Given the description of an element on the screen output the (x, y) to click on. 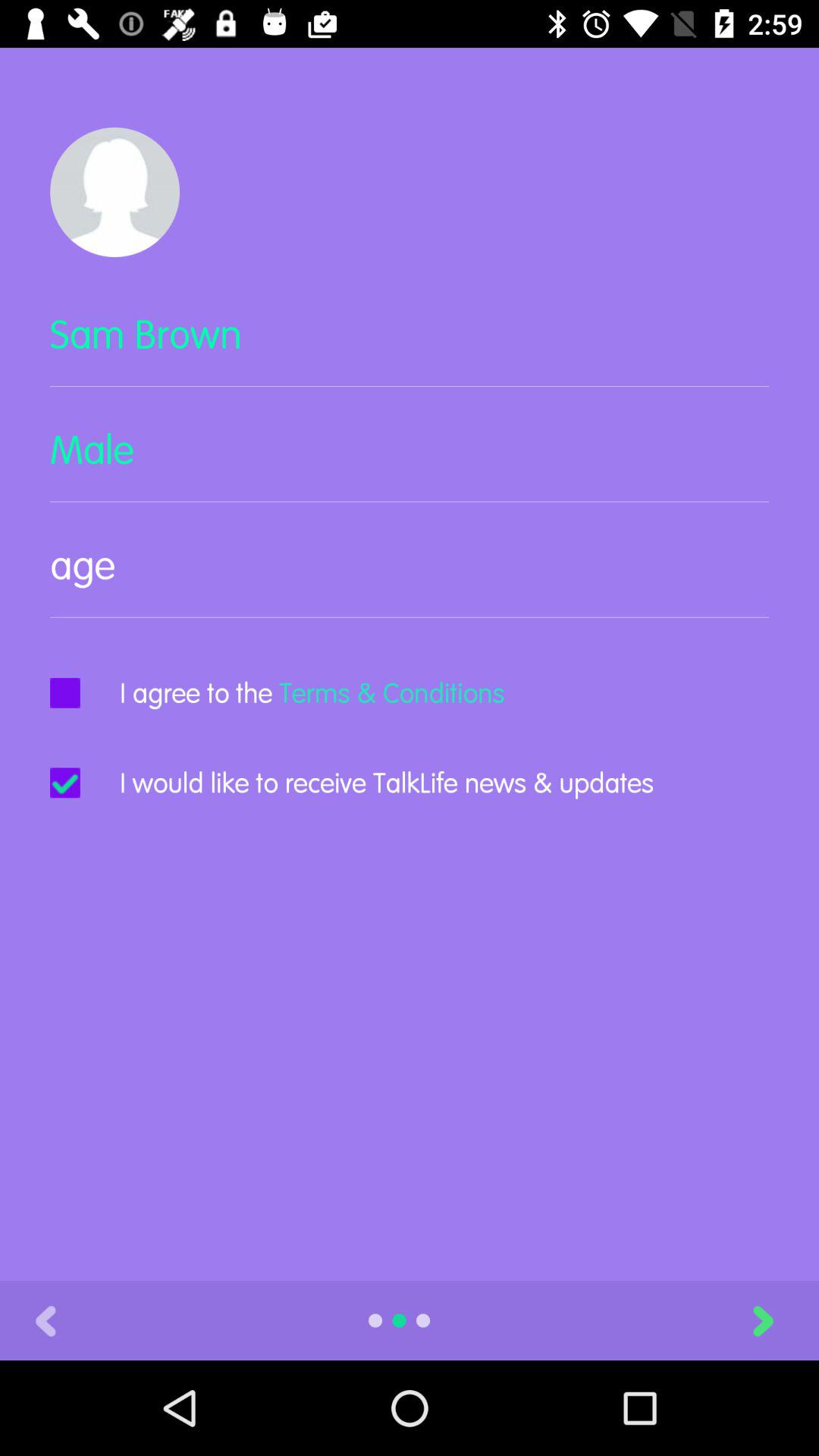
fill out age (409, 577)
